Given the description of an element on the screen output the (x, y) to click on. 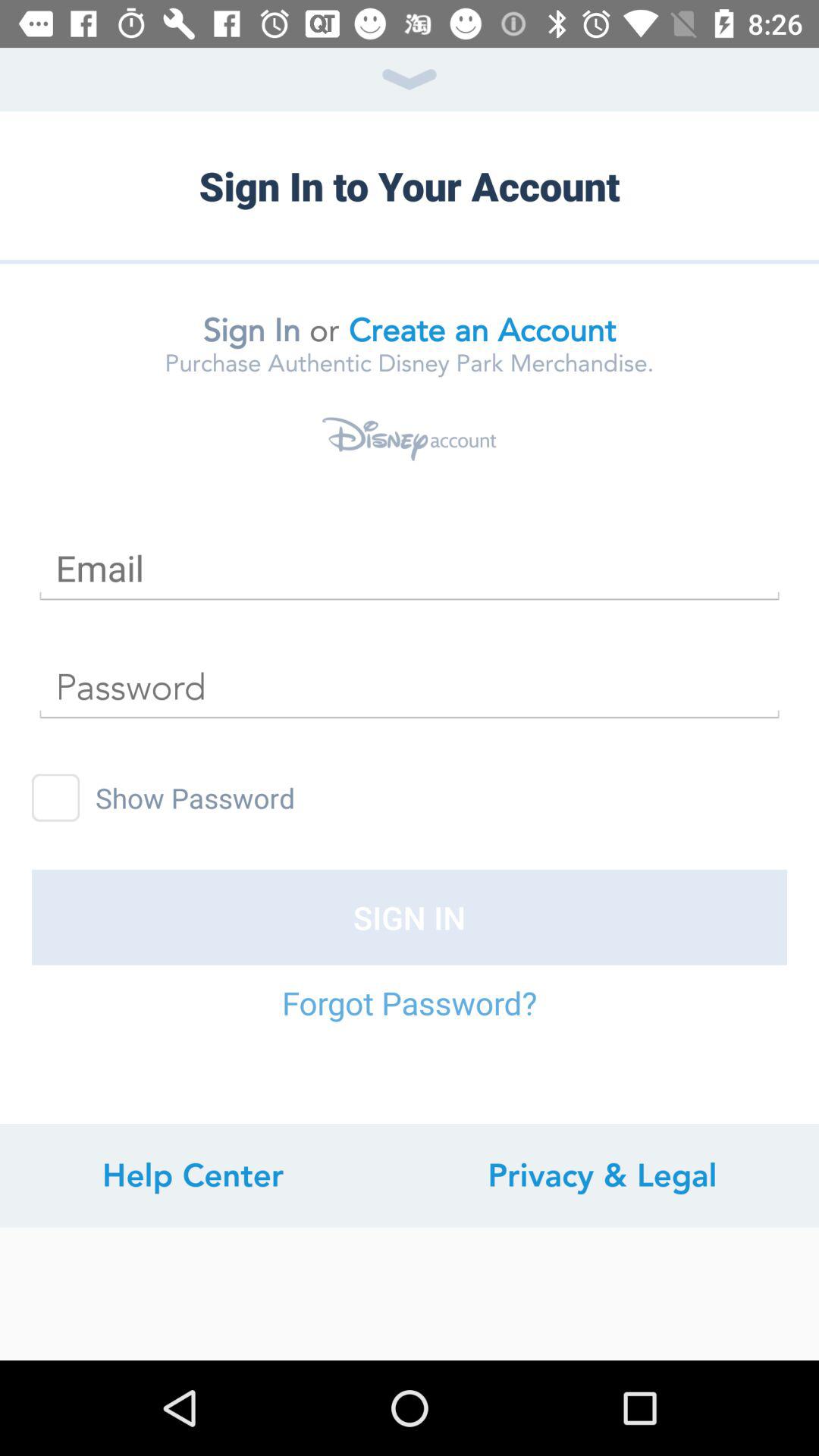
press create an account item (481, 330)
